Given the description of an element on the screen output the (x, y) to click on. 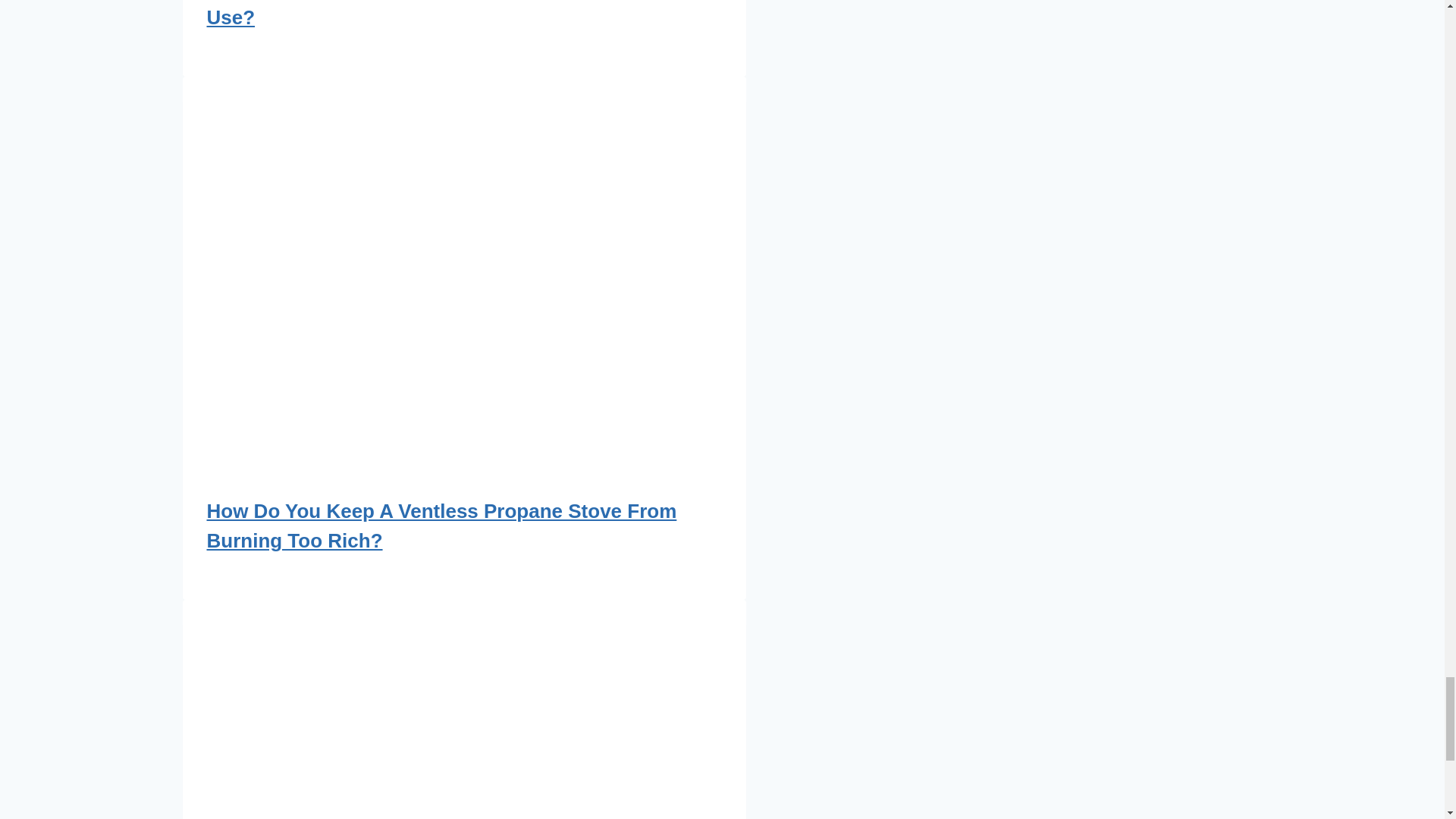
How Much Electricity Does A Tankless Water Heater Use? (448, 14)
